Given the description of an element on the screen output the (x, y) to click on. 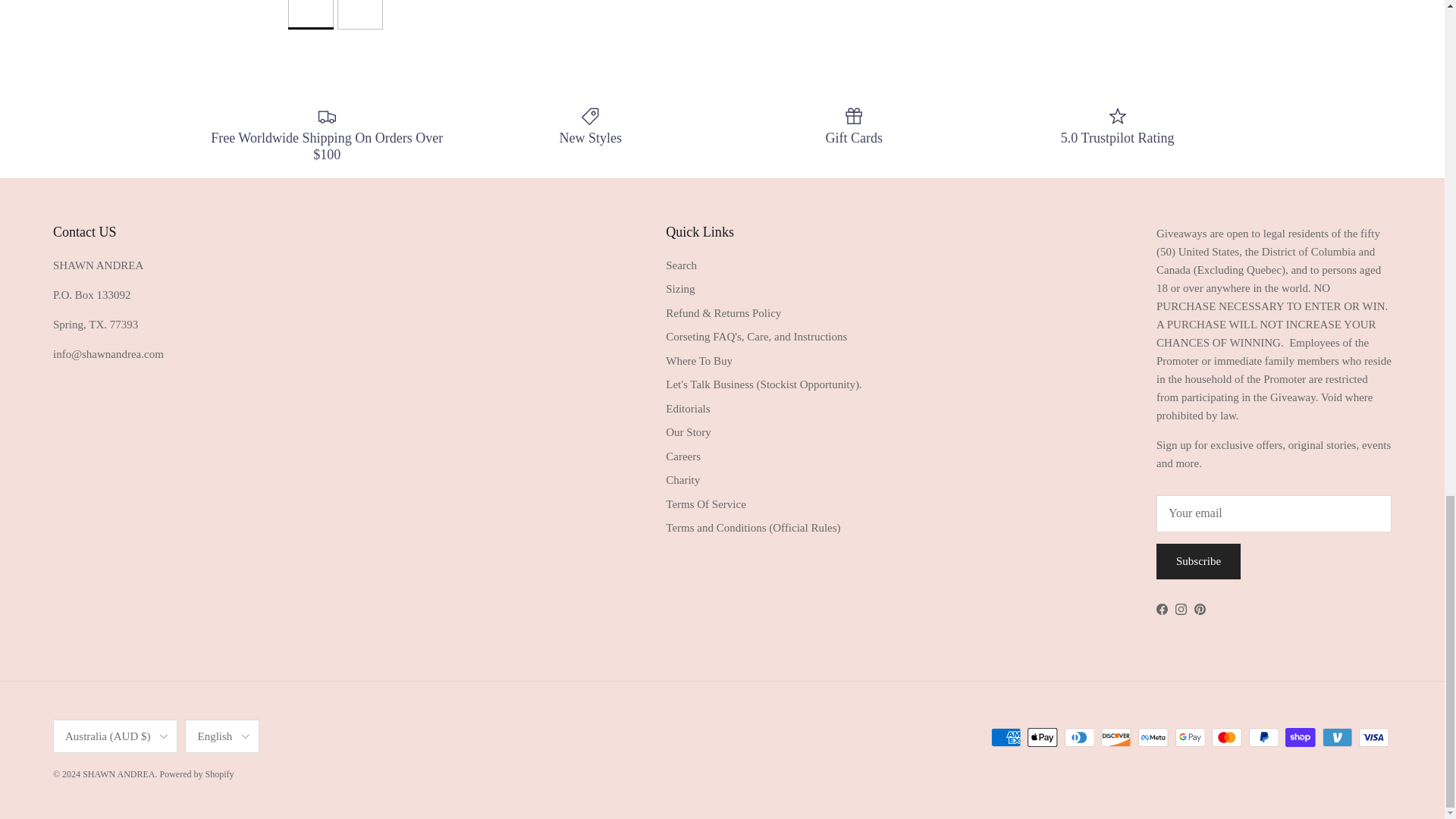
SHAWN ANDREA on Facebook (1161, 609)
American Express (1005, 736)
SHAWN ANDREA on Instagram (1180, 609)
SHAWN ANDREA on Pinterest (1199, 609)
